Given the description of an element on the screen output the (x, y) to click on. 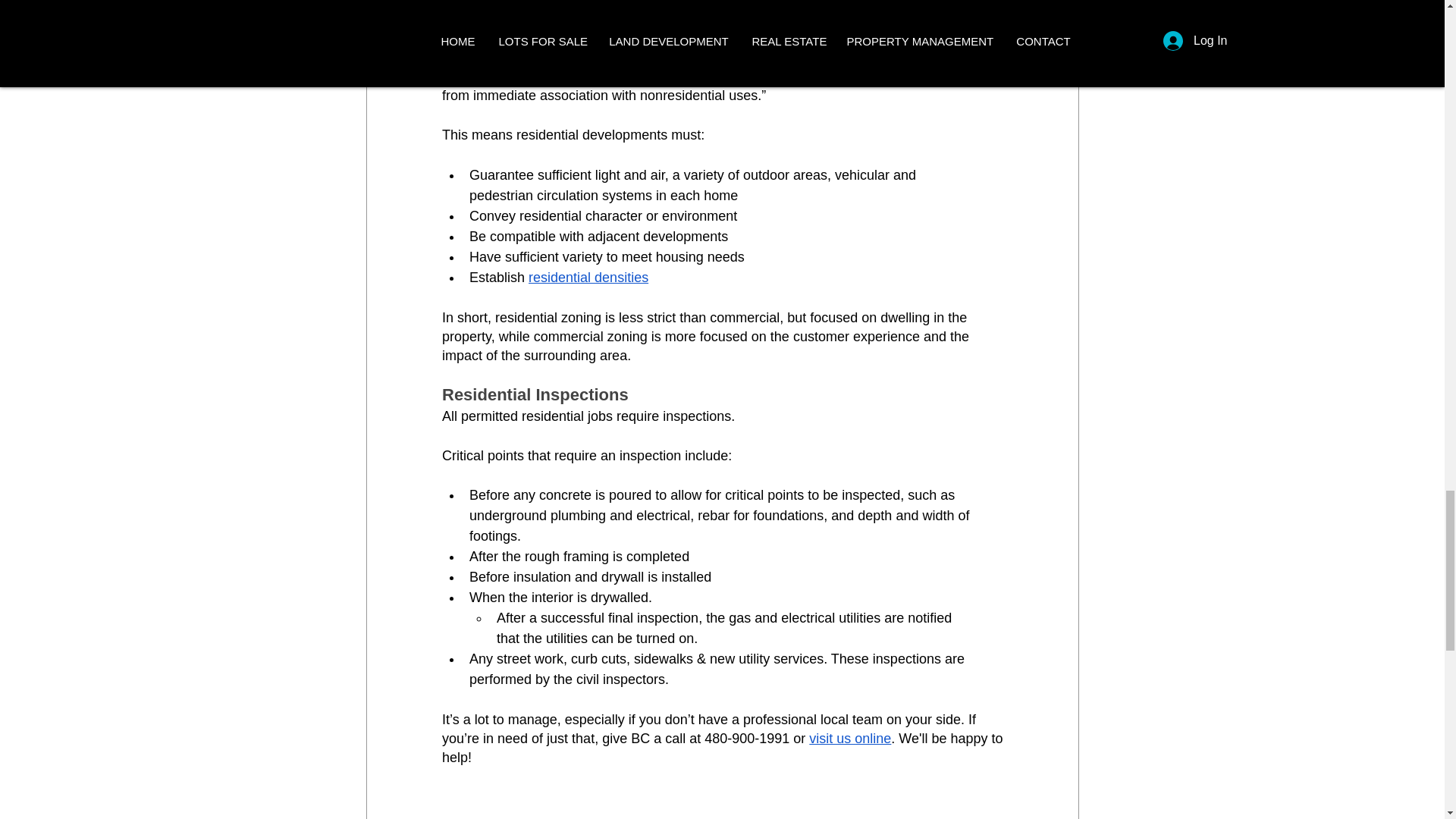
adverse impacts (827, 77)
residential densities (587, 277)
visit us online (850, 738)
Phoenix Zoning Ordinance (625, 38)
